Given the description of an element on the screen output the (x, y) to click on. 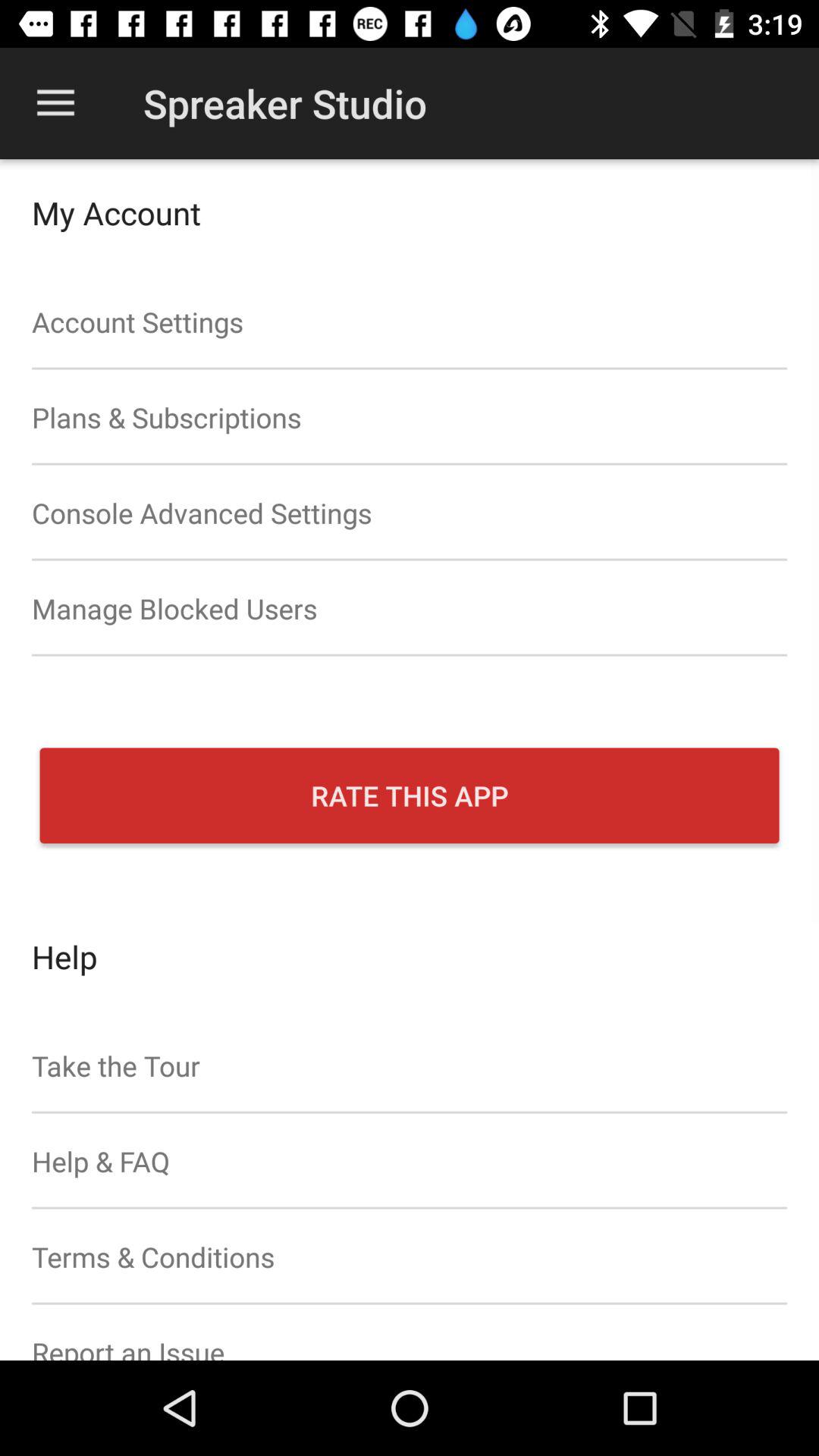
click the plans & subscriptions icon (409, 417)
